Given the description of an element on the screen output the (x, y) to click on. 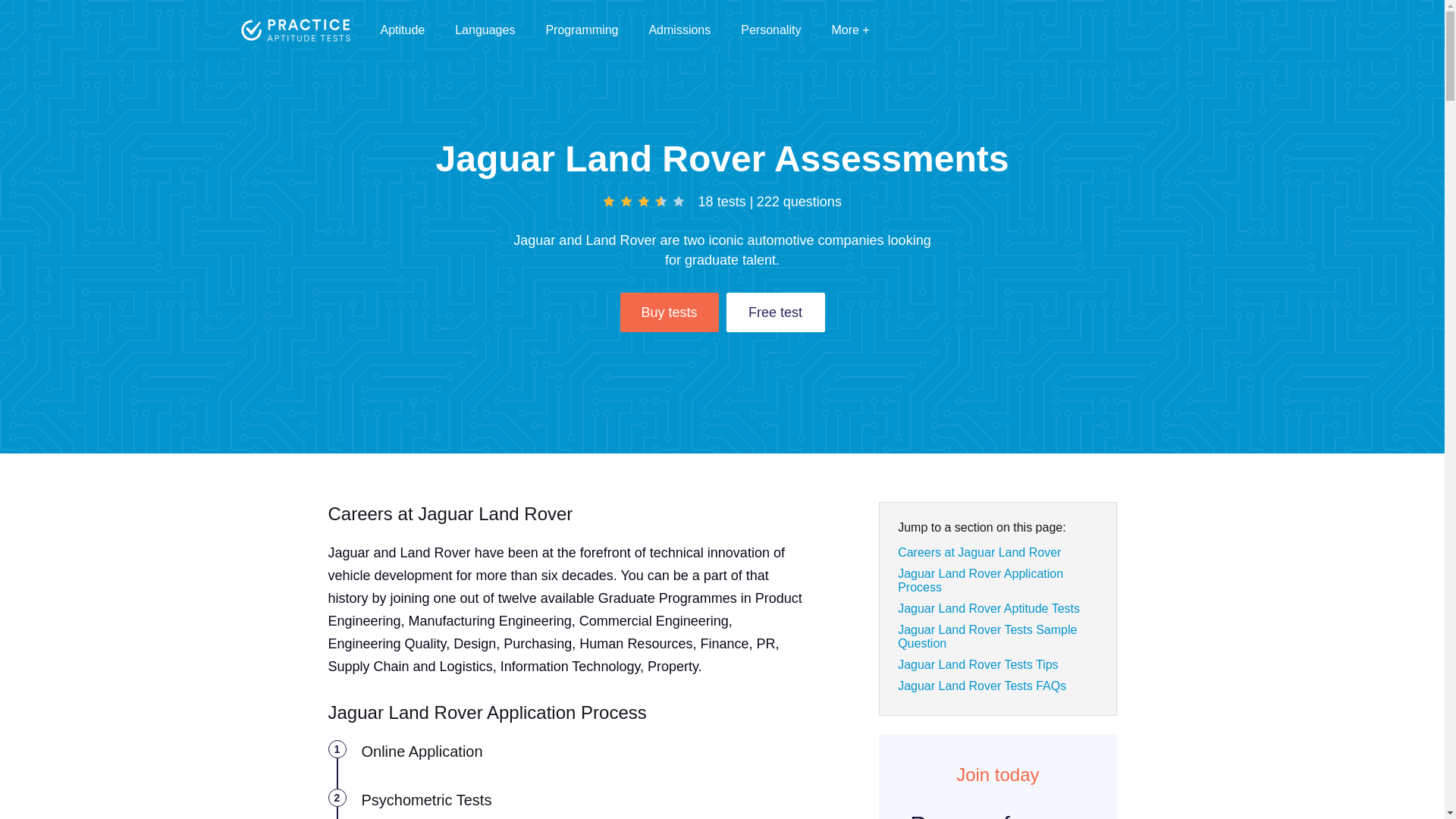
Programming (580, 29)
Languages (484, 29)
Admissions (678, 29)
Personality (770, 29)
Buy tests (669, 312)
Free test (775, 312)
Aptitude (402, 29)
